Given the description of an element on the screen output the (x, y) to click on. 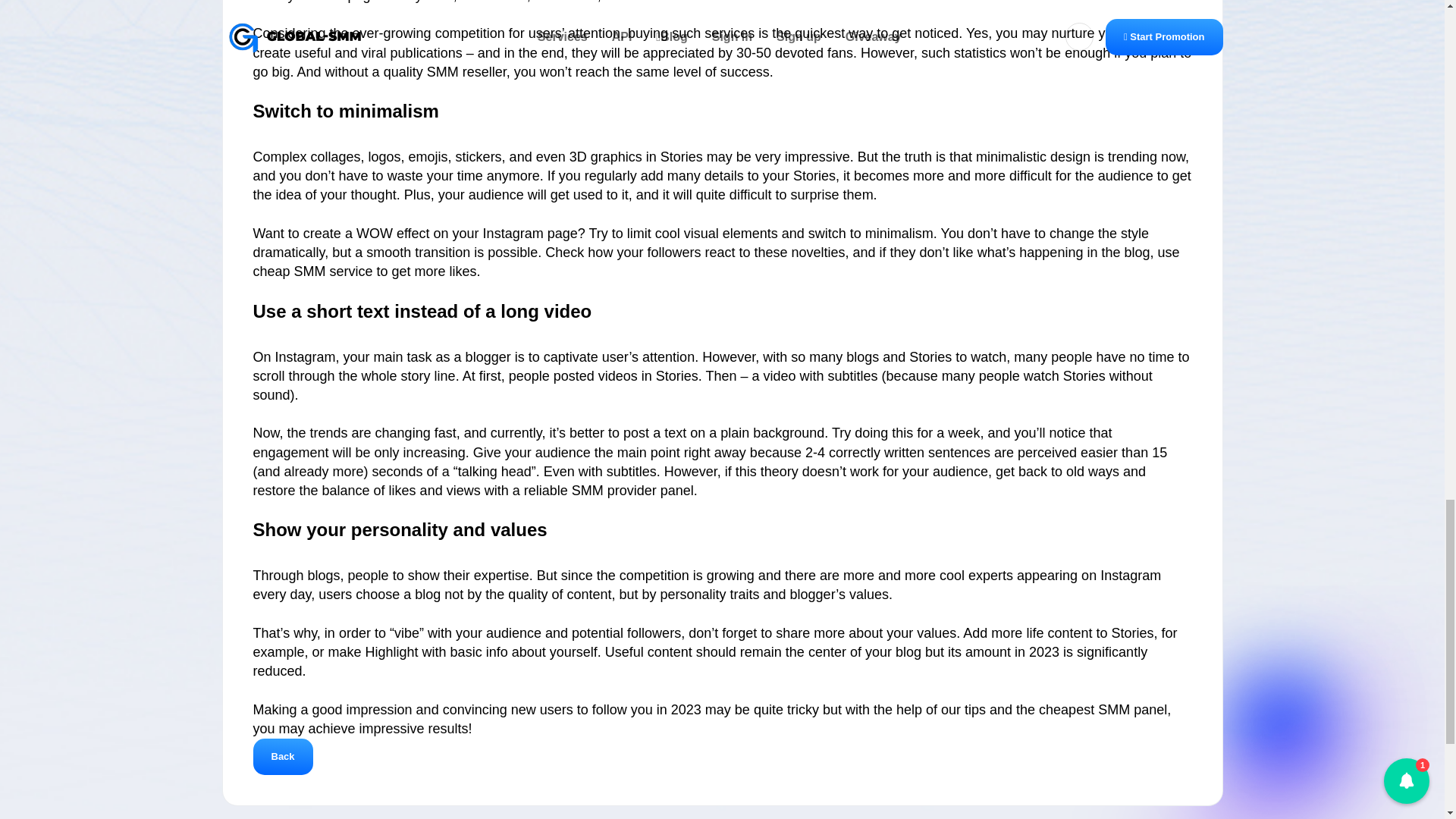
cheap SMM service (312, 271)
SMM provider panel (633, 490)
Back (283, 756)
